Given the description of an element on the screen output the (x, y) to click on. 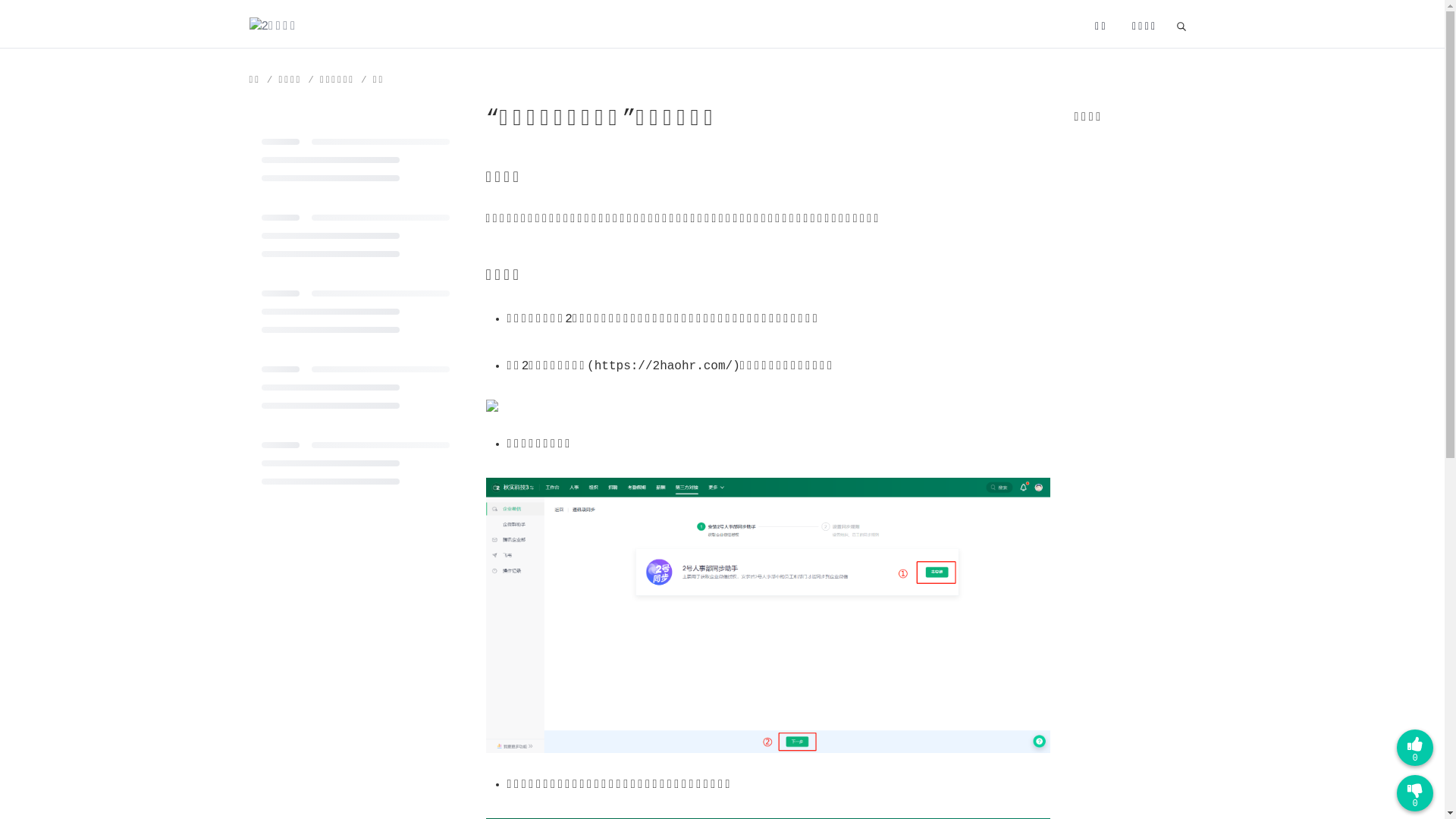
0 Element type: text (1414, 793)
0 Element type: text (1414, 747)
